Given the description of an element on the screen output the (x, y) to click on. 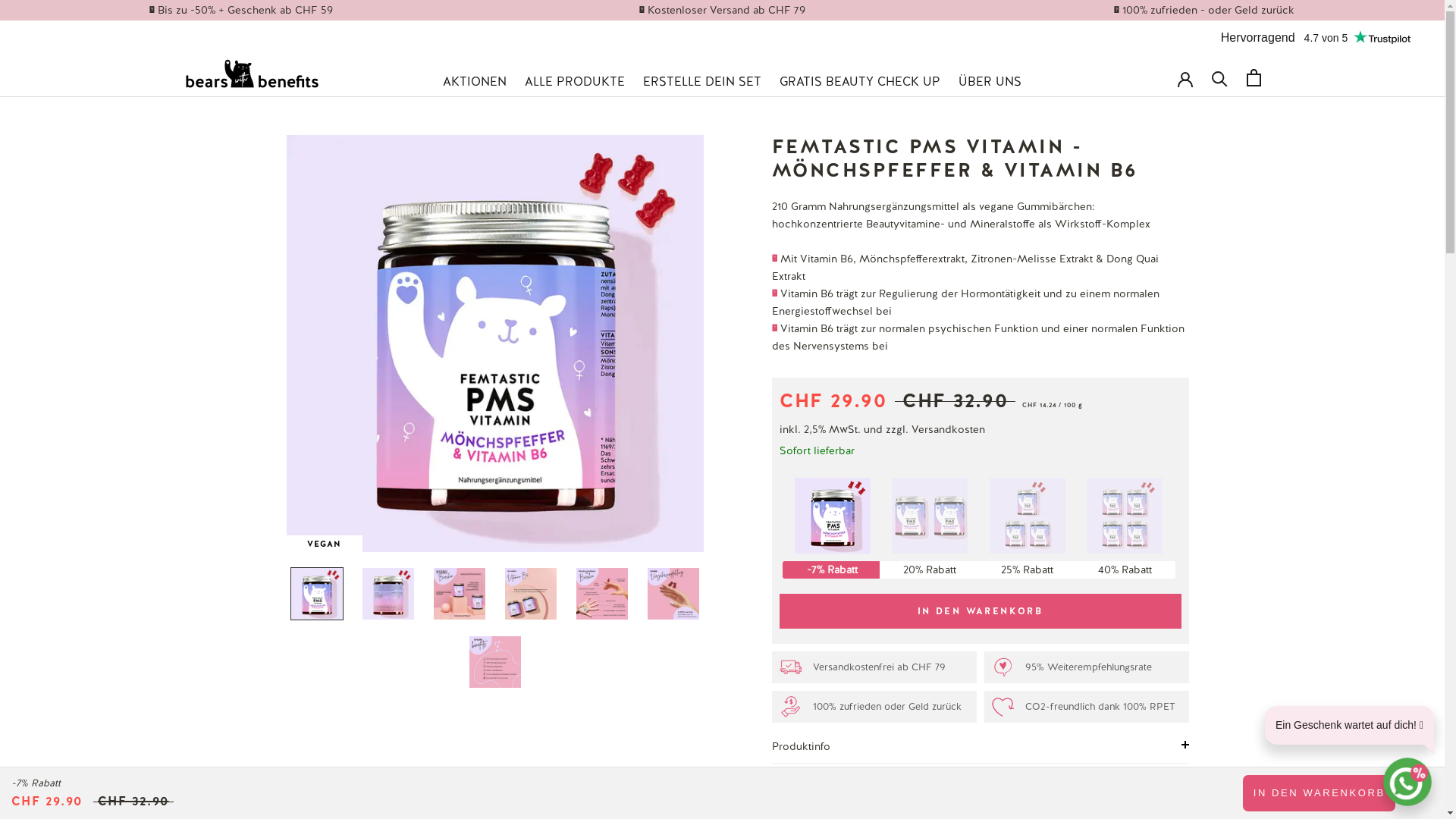
IN DEN WARENKORB Element type: text (980, 610)
Versandkosten Element type: text (948, 429)
IN DEN WARENKORB Element type: text (1318, 793)
AKTIONEN Element type: text (474, 81)
GRATIS BEAUTY CHECK UP
GRATIS BEAUTY CHECK UP Element type: text (859, 81)
Produktinfo Element type: text (980, 746)
ERSTELLE DEIN SET
ERSTELLE DEIN SET Element type: text (702, 81)
Verzehrempfehlung  Element type: text (980, 783)
ALLE PRODUKTE Element type: text (574, 81)
